Given the description of an element on the screen output the (x, y) to click on. 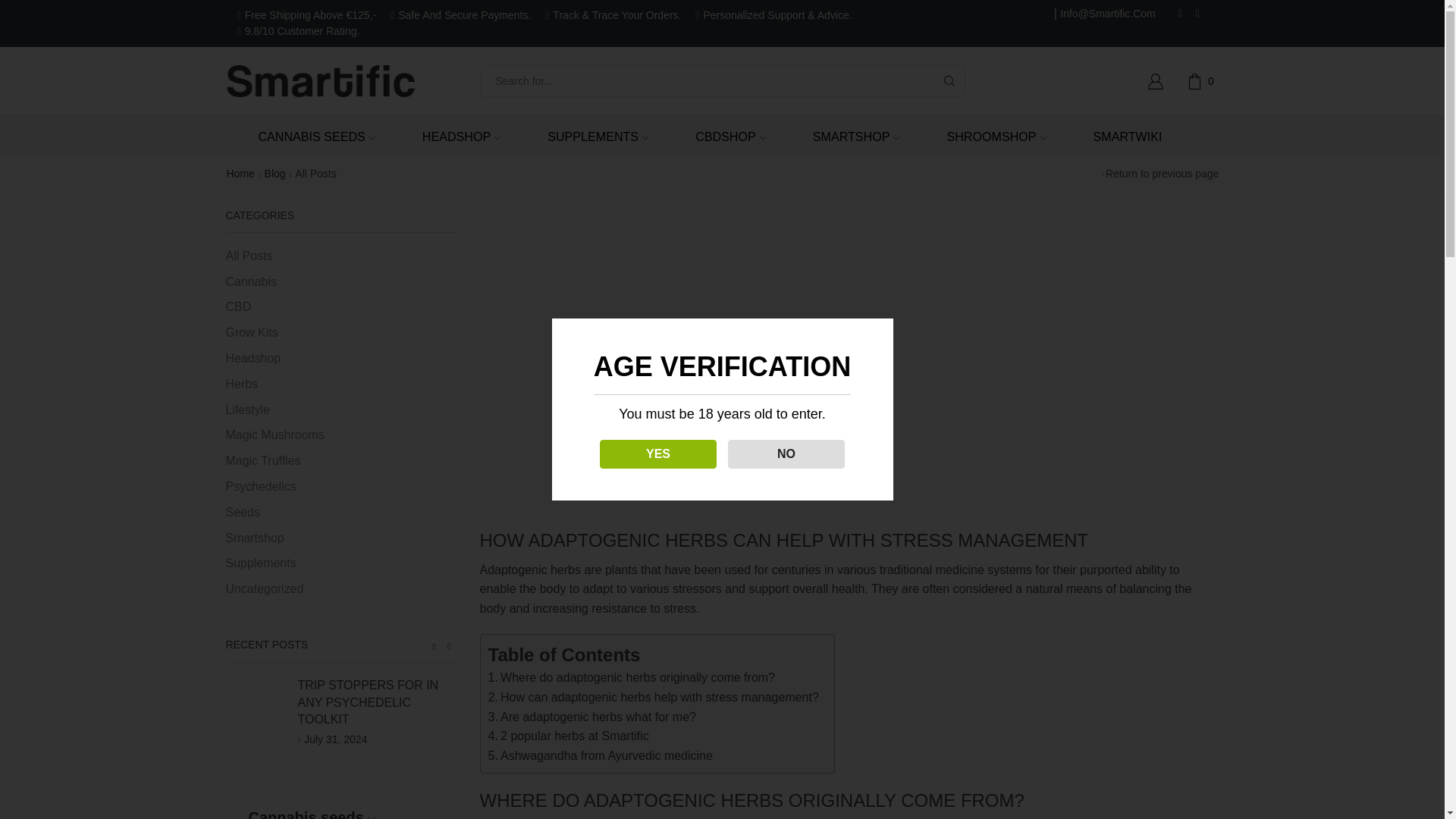
HEADSHOP (455, 136)
SMARTWIKI (1122, 136)
How can adaptogenic herbs help with stress management? (652, 697)
Where do adaptogenic herbs originally come from? (631, 677)
Smartific 1 (849, 361)
Are adaptogenic herbs what for me? (591, 717)
SUPPLEMENTS (592, 136)
CBDSHOP (725, 136)
SHROOMSHOP (990, 136)
Ashwagandha from Ayurvedic medicine (600, 755)
